Given the description of an element on the screen output the (x, y) to click on. 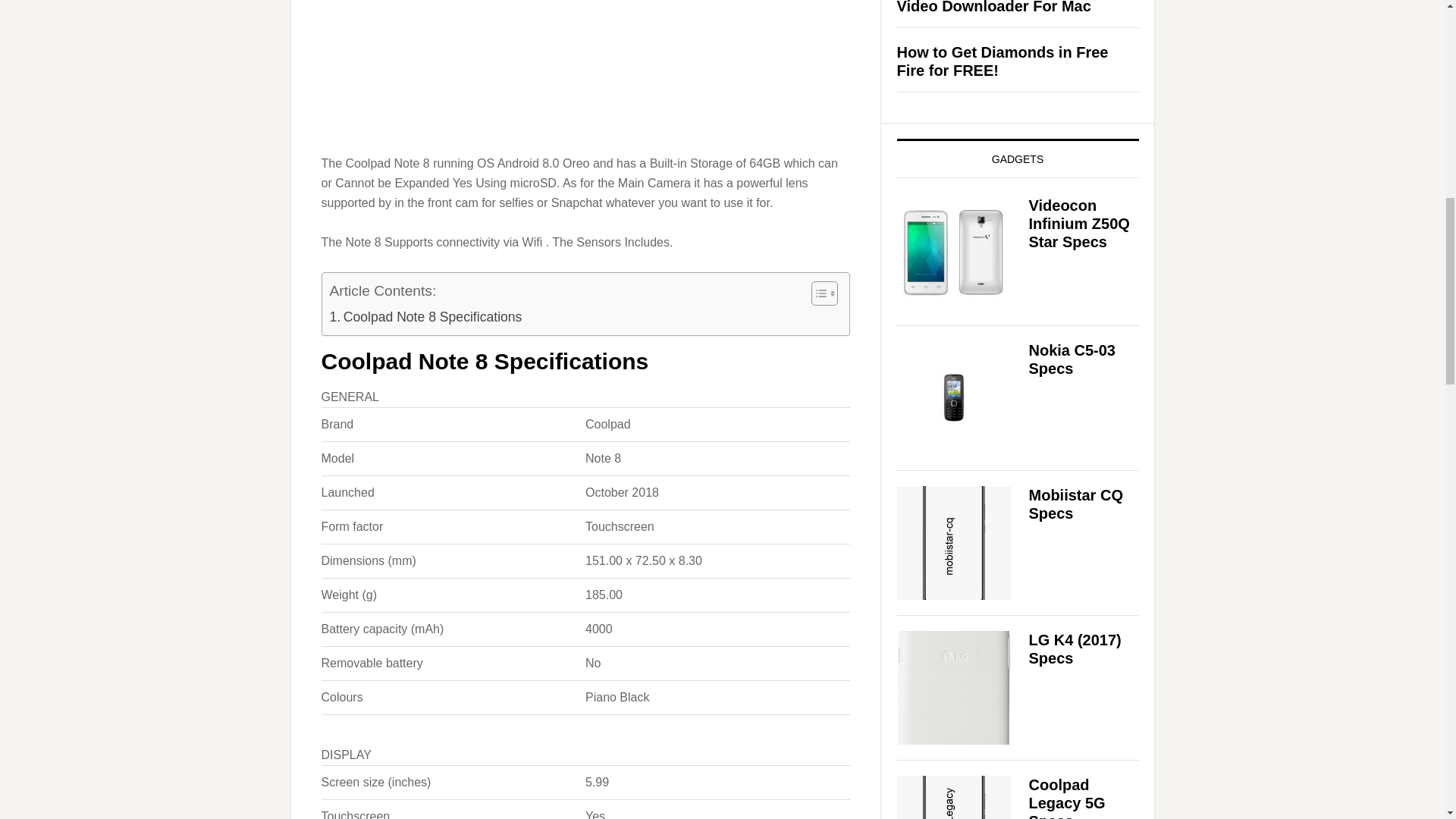
VideoDuke Review: An Ultimate Video Downloader For Mac (1010, 7)
Coolpad Note 8 Specifications (425, 316)
Coolpad Note 8 Specifications (425, 316)
Mobiistar CQ Specs (1074, 503)
Nokia C5-03 Specs (1071, 359)
How to Get Diamonds in Free Fire for FREE! (1002, 61)
Advertisement (585, 82)
Videocon Infinium Z50Q Star Specs (1078, 223)
